Given the description of an element on the screen output the (x, y) to click on. 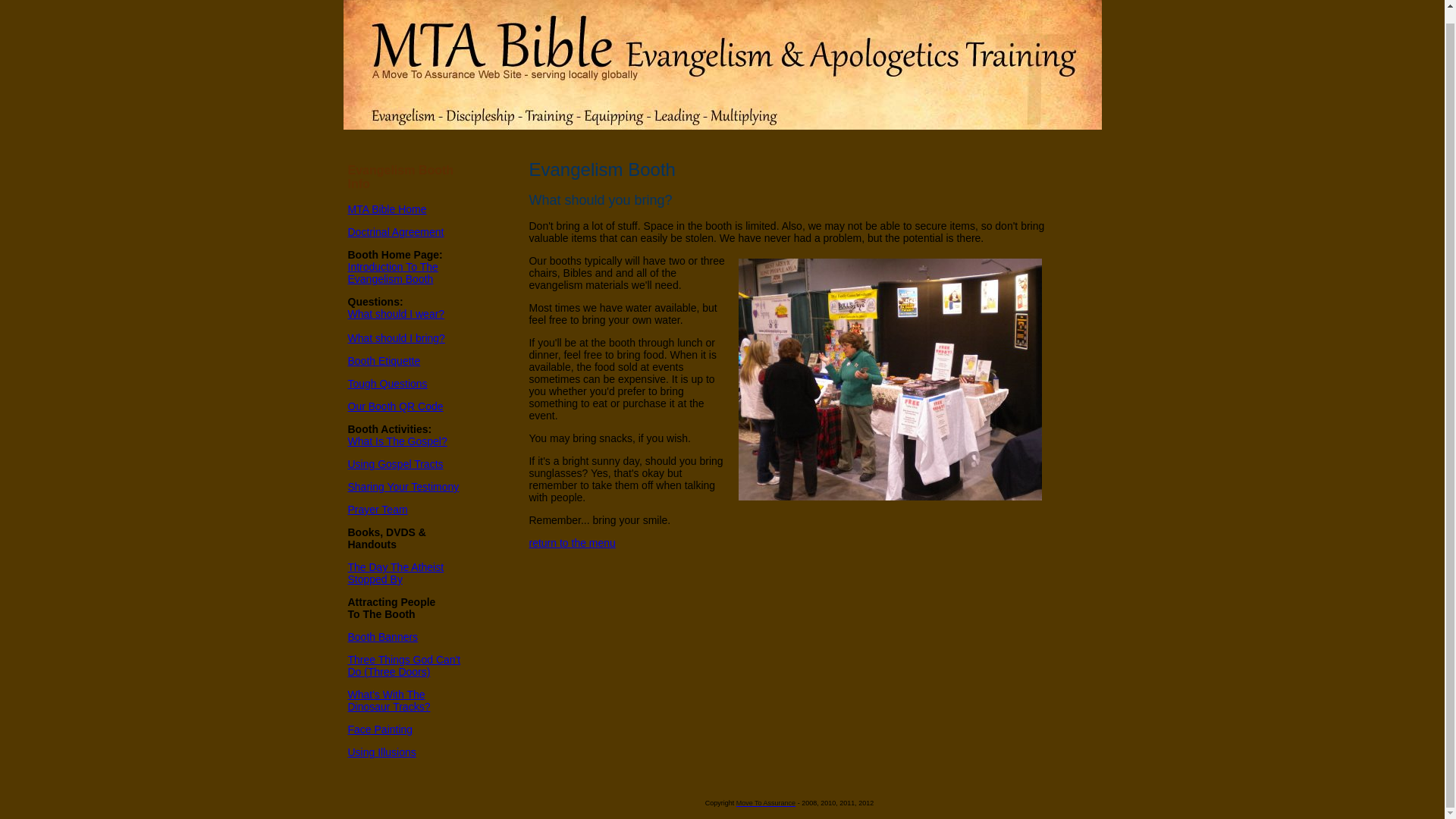
Using Gospel Tracts (392, 273)
Booth Etiquette (394, 463)
Using Illusions (383, 360)
What should I wear? (380, 752)
Booth Banners (395, 313)
What Is The Gospel? (382, 636)
What's With The Dinosaur Tracks? (396, 440)
Doctrinal Agreement (388, 700)
The Day The Atheist Stopped By (395, 232)
